Given the description of an element on the screen output the (x, y) to click on. 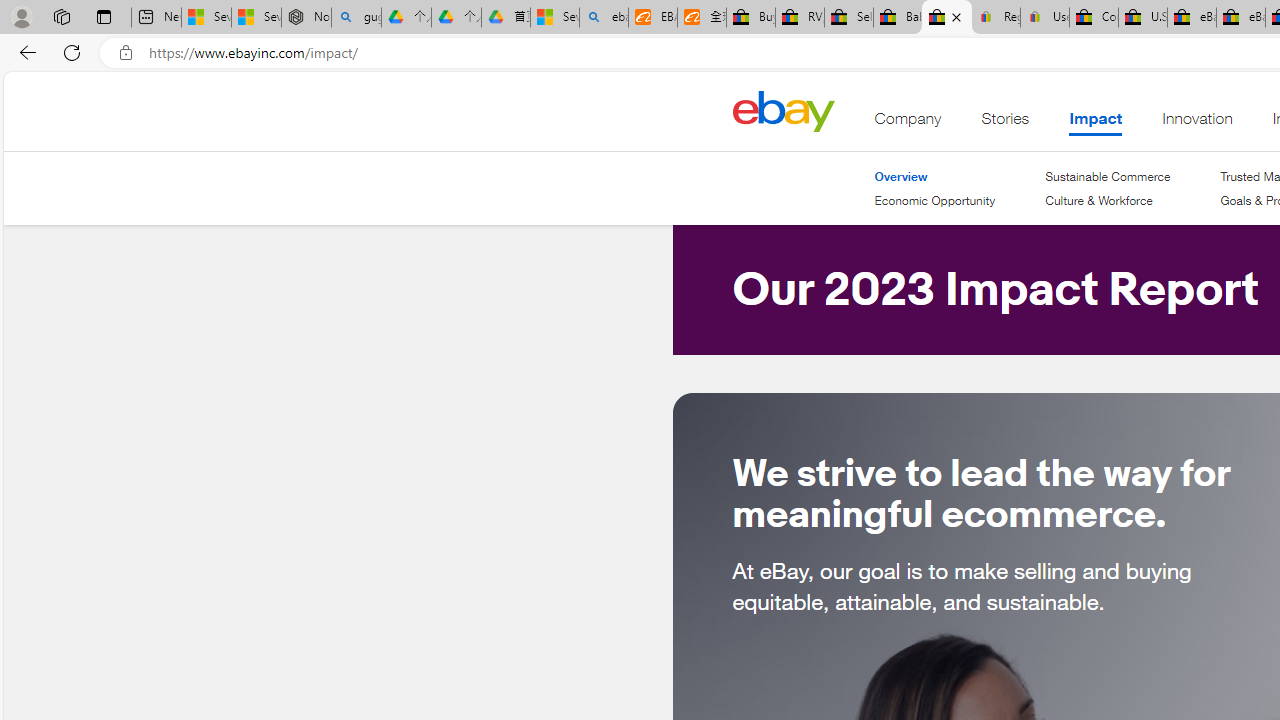
Innovation (1197, 123)
Impact (1095, 123)
Company (908, 123)
guge yunpan - Search (356, 17)
Impact (1095, 123)
Economic Opportunity (934, 201)
Register: Create a personal eBay account (995, 17)
